Given the description of an element on the screen output the (x, y) to click on. 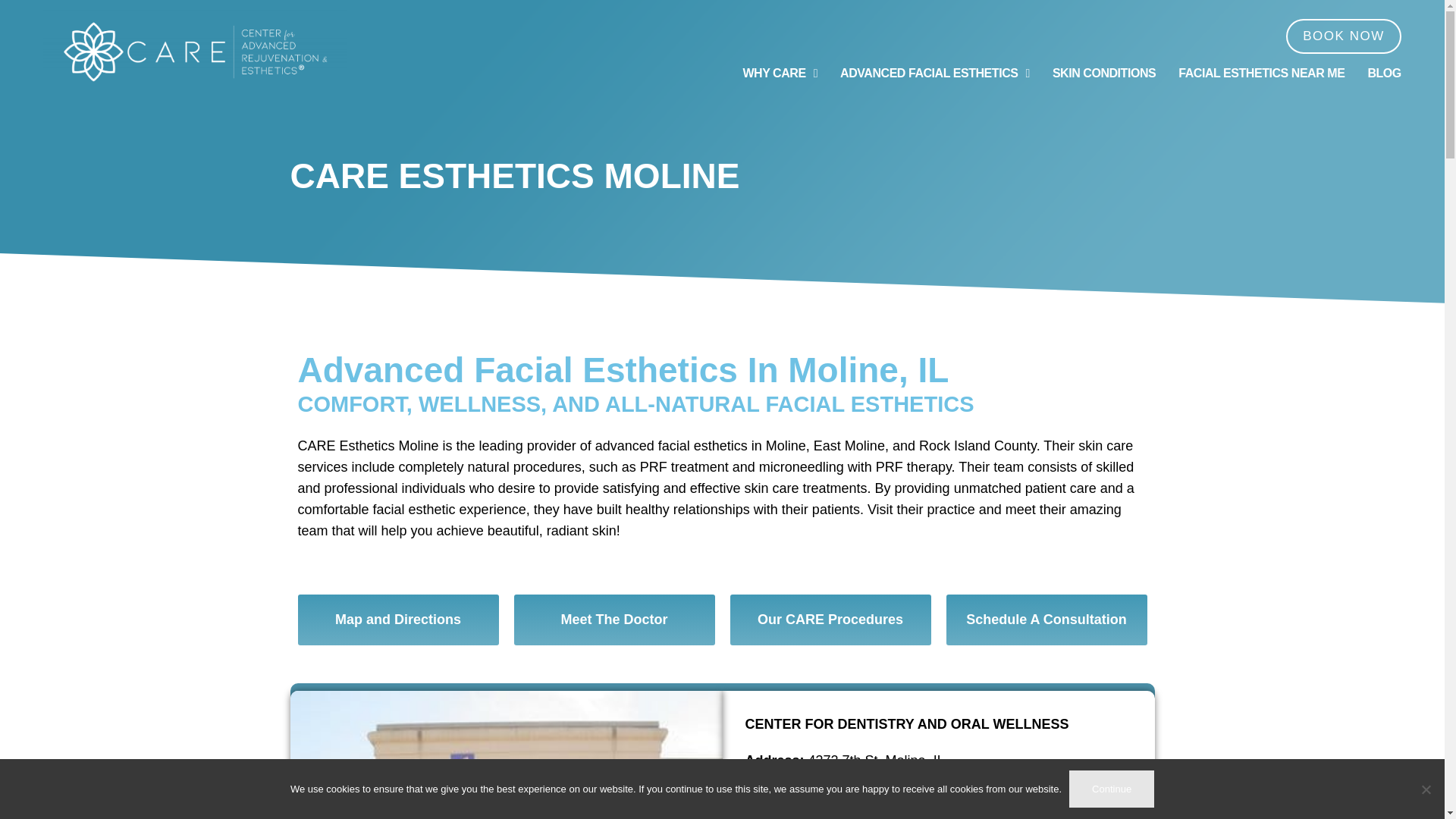
WHY CARE (779, 73)
FACIAL ESTHETICS NEAR ME (1260, 73)
No (1425, 788)
BOOK NOW (1342, 36)
ADVANCED FACIAL ESTHETICS (934, 73)
SKIN CONDITIONS (1104, 73)
BLOG (1383, 73)
